Given the description of an element on the screen output the (x, y) to click on. 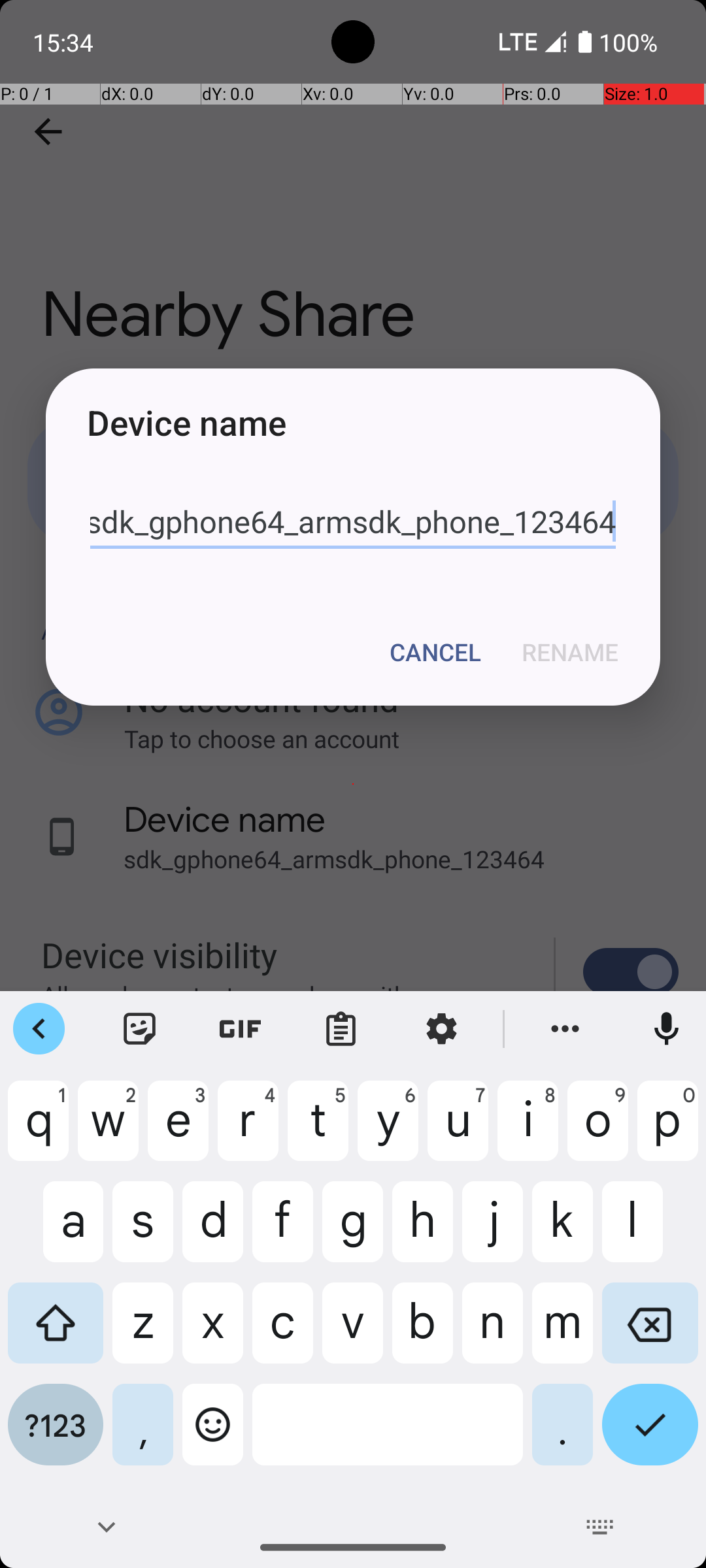
Device name Element type: android.widget.TextView (352, 422)
sdk_gphone64_armsdk_phone_123464 Element type: android.widget.EditText (352, 521)
RENAME Element type: android.widget.Button (570, 651)
